Given the description of an element on the screen output the (x, y) to click on. 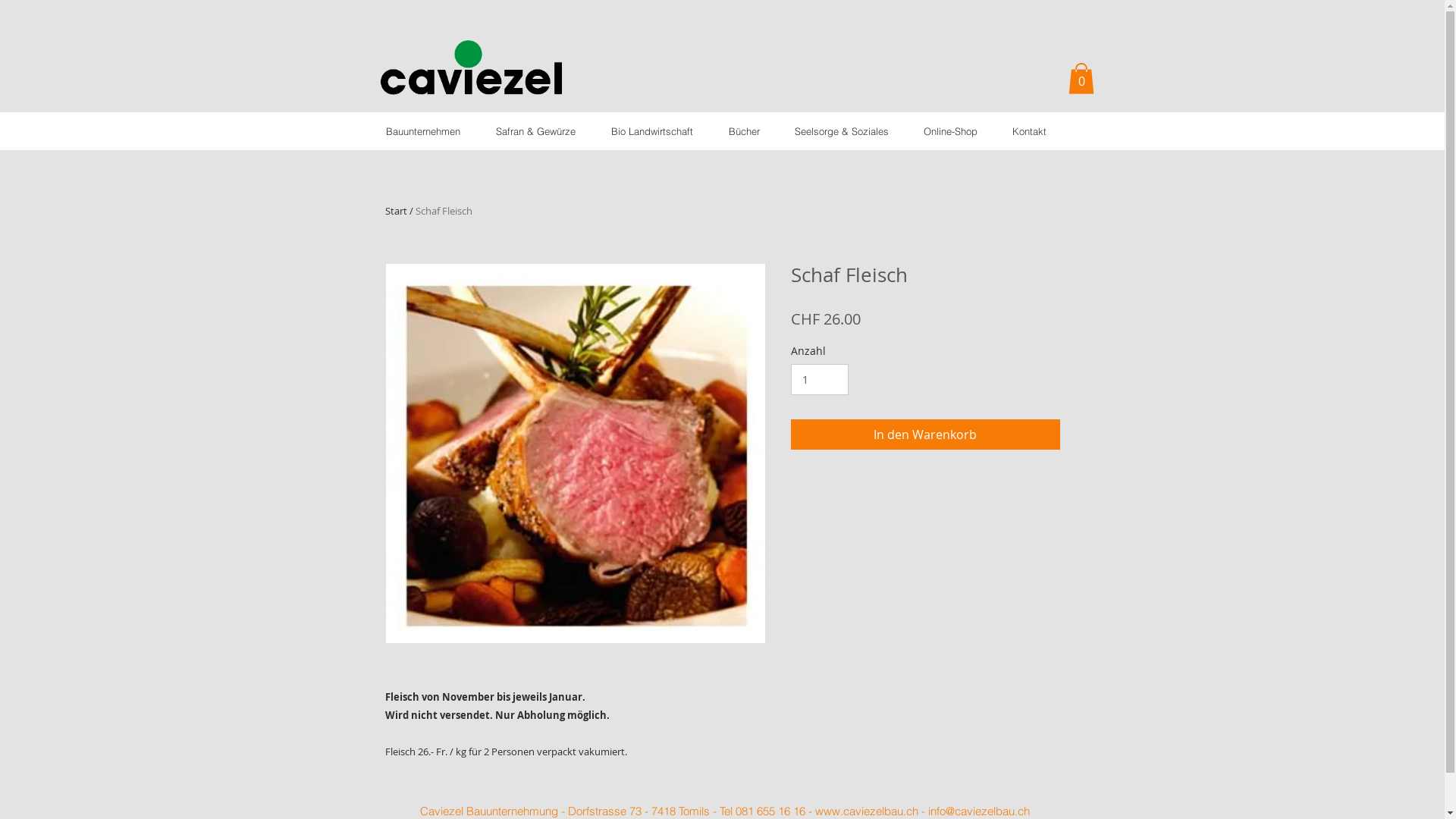
Schaf Fleisch Element type: text (443, 210)
Bio Landwirtschaft Element type: text (651, 131)
Seelsorge & Soziales Element type: text (840, 131)
0 Element type: text (1080, 78)
In den Warenkorb Element type: text (924, 434)
Start Element type: text (396, 210)
Online-Shop Element type: text (949, 131)
Bauunternehmen Element type: text (423, 131)
Kontakt Element type: text (1029, 131)
